Given the description of an element on the screen output the (x, y) to click on. 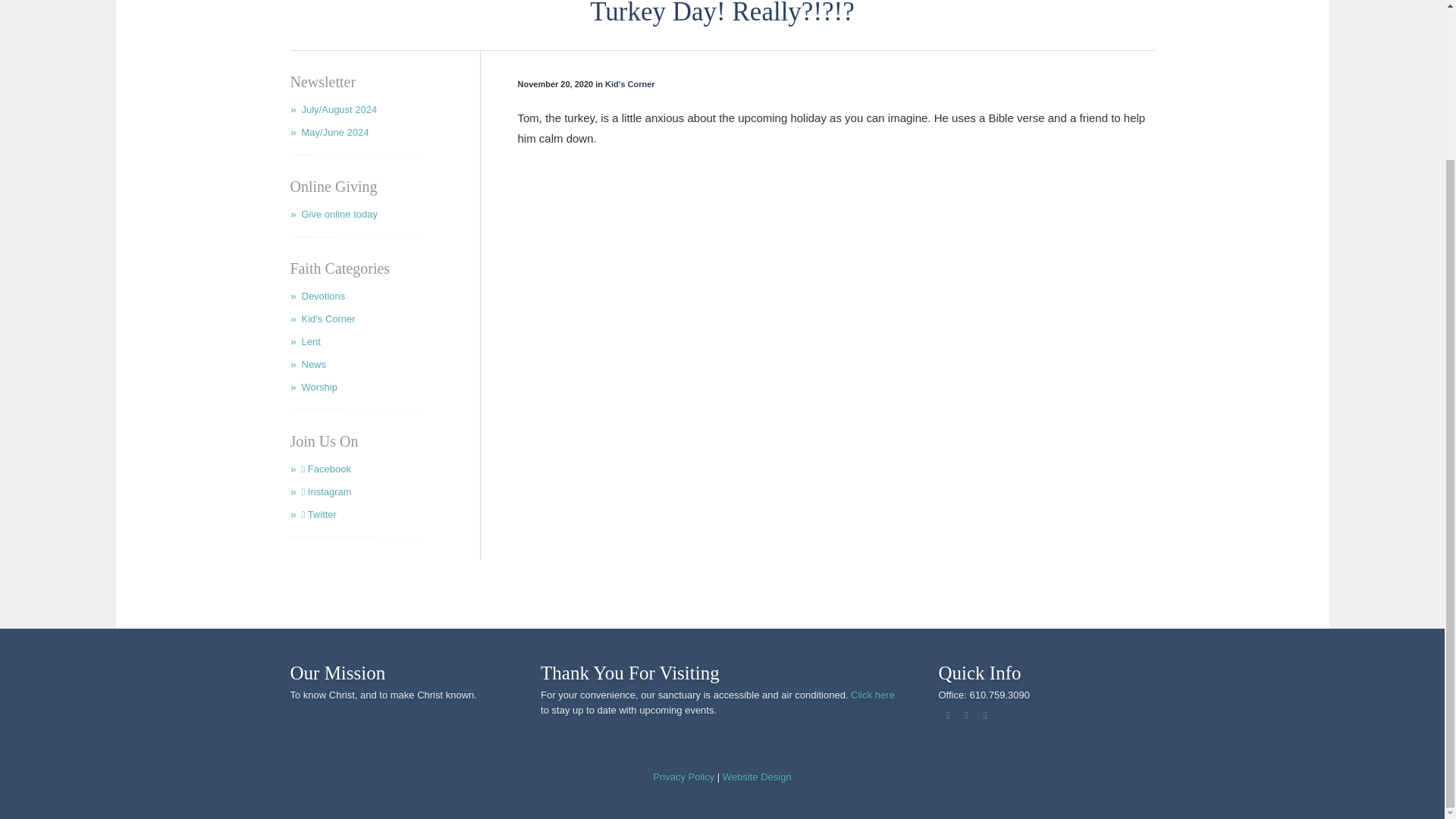
Facebook (384, 472)
Worship (384, 391)
Click here (872, 695)
Twitter (384, 517)
Kid's Corner (630, 83)
Website Design (757, 776)
Lent (384, 345)
Privacy Policy (683, 776)
News (384, 368)
